Given the description of an element on the screen output the (x, y) to click on. 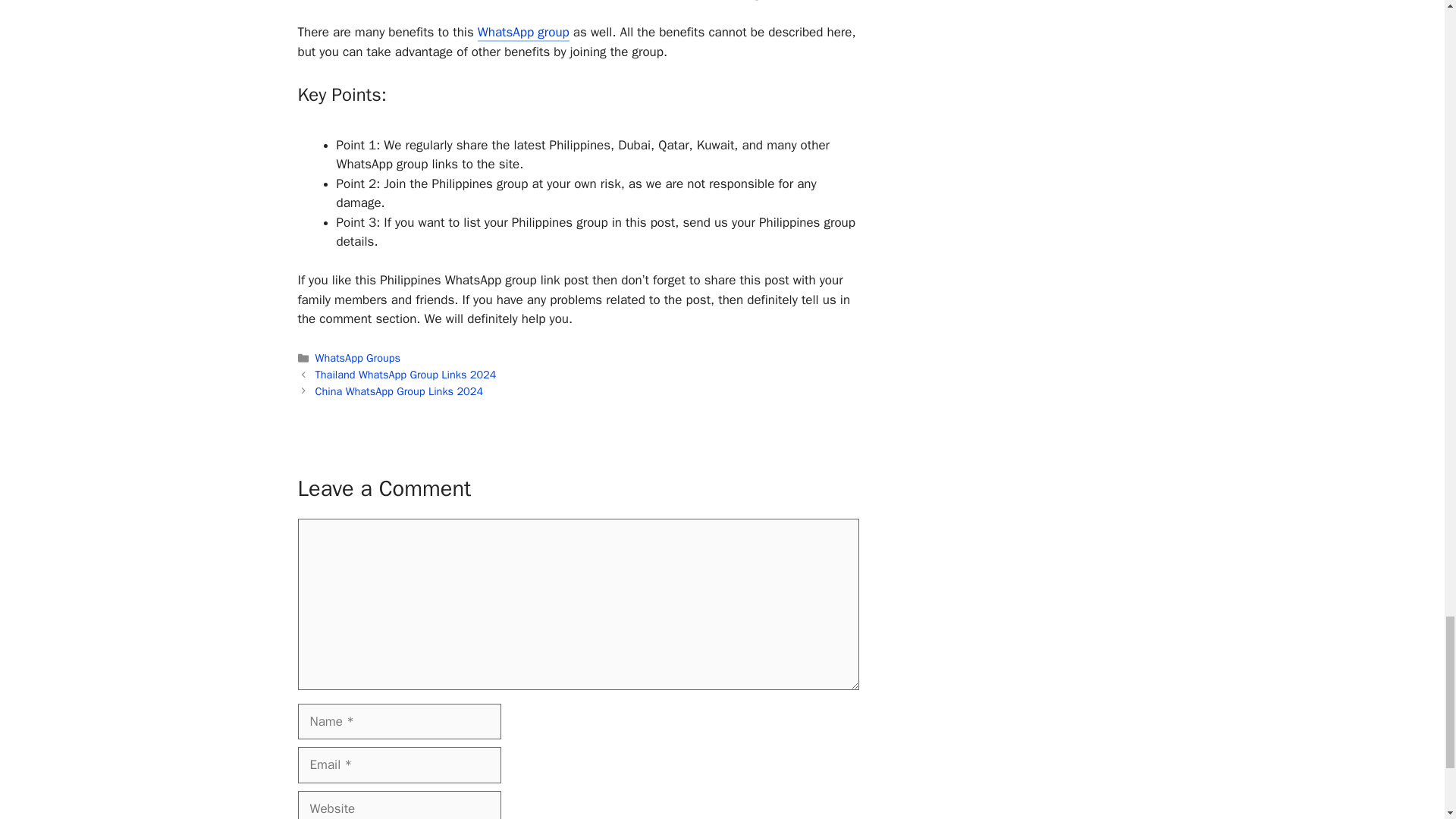
Previous (405, 374)
Next (399, 391)
